Given the description of an element on the screen output the (x, y) to click on. 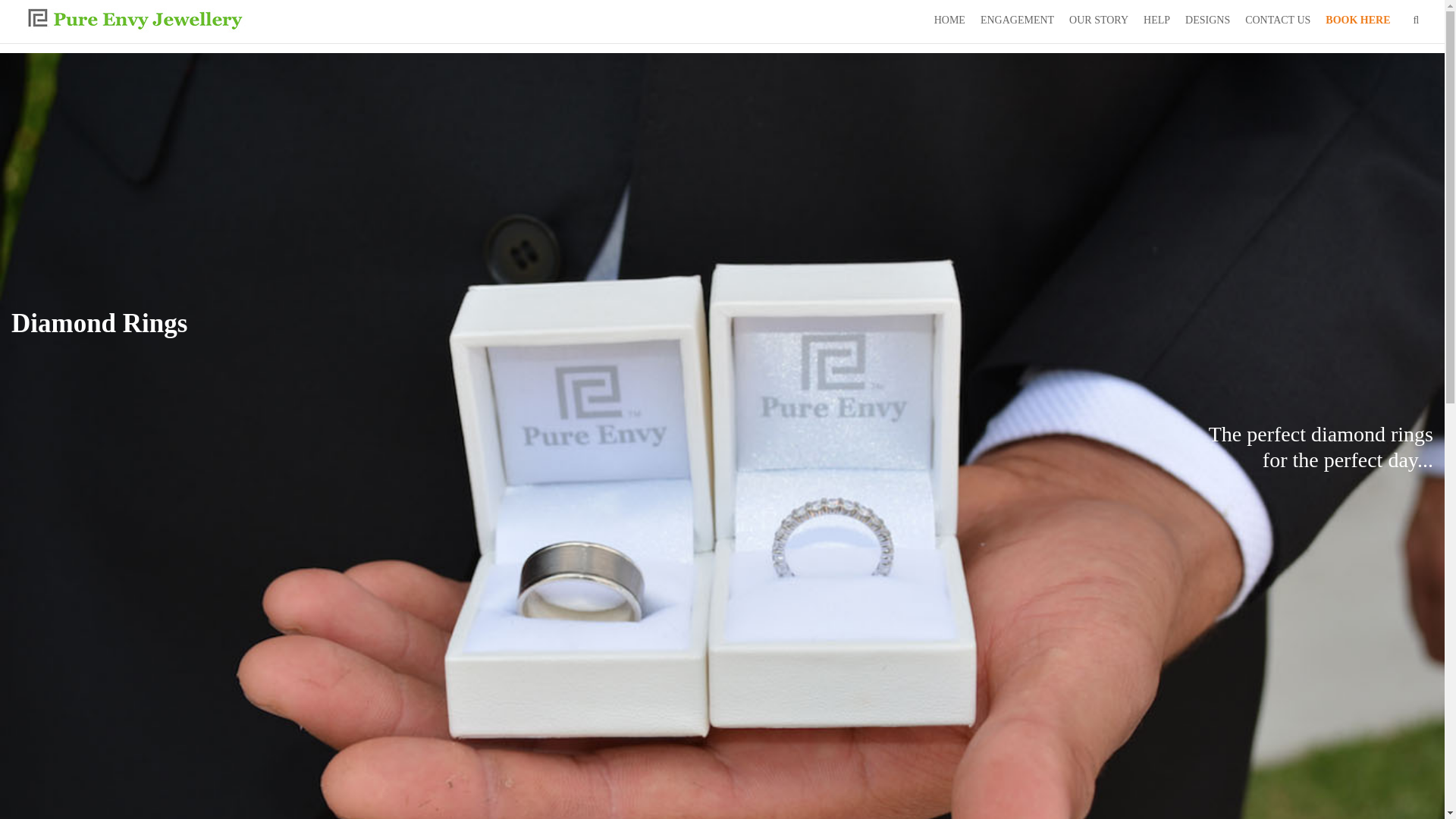
OUR STORY (1098, 23)
HOME (949, 23)
HELP (1156, 23)
CONTACT US (1277, 23)
Home (376, 29)
diamonds engagement ring (1277, 23)
custom engagement rings adelaide (1016, 23)
DESIGNS (1207, 23)
Go back to the homepage (134, 19)
engagement rings adelaide (949, 23)
BOOK HERE (1357, 23)
ENGAGEMENT (1016, 23)
rings design  (1207, 23)
custom jewellers (1156, 23)
adelaide jewellery (1098, 23)
